Given the description of an element on the screen output the (x, y) to click on. 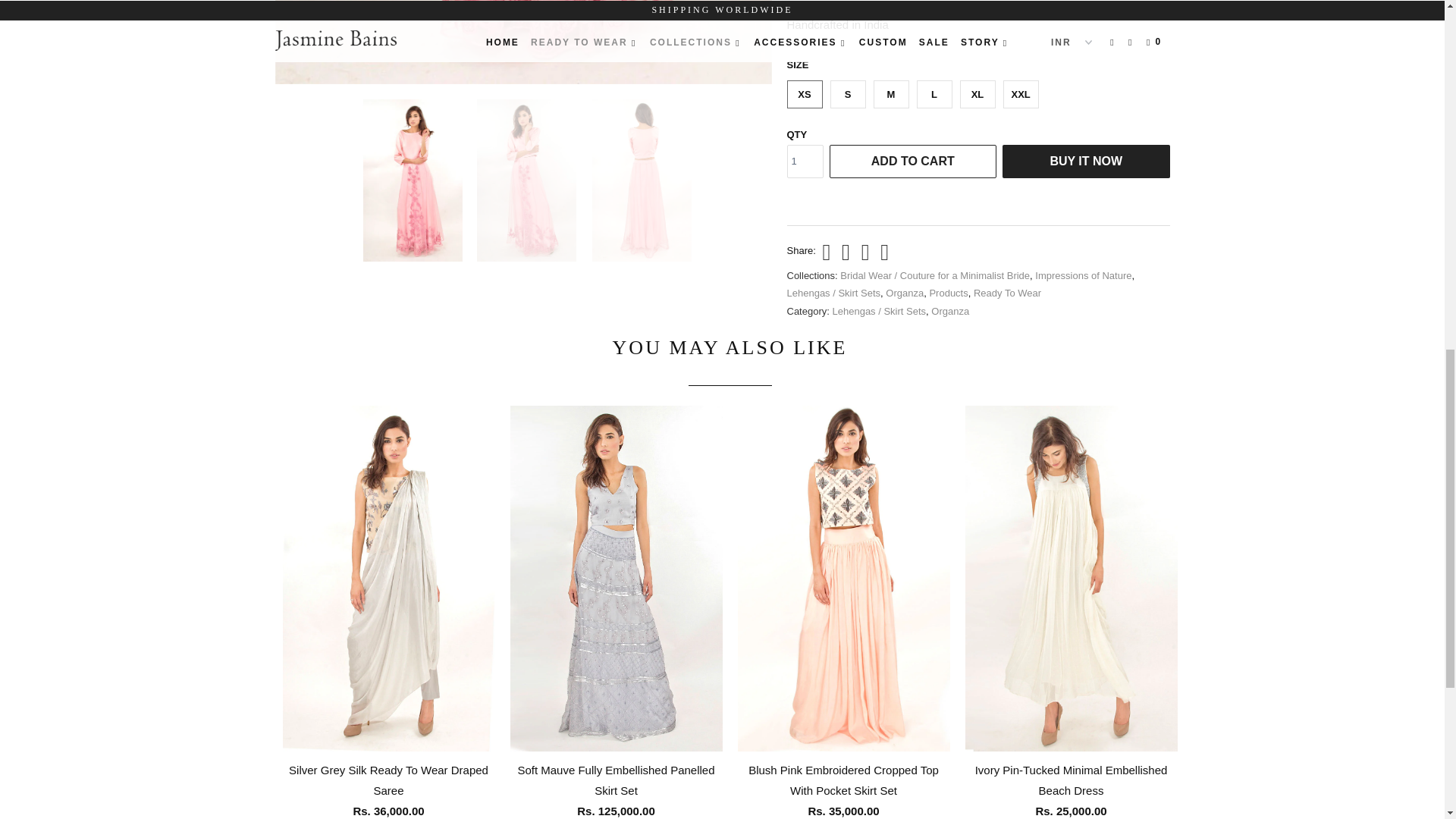
1 (805, 161)
Impressions of Nature (1083, 275)
